Given the description of an element on the screen output the (x, y) to click on. 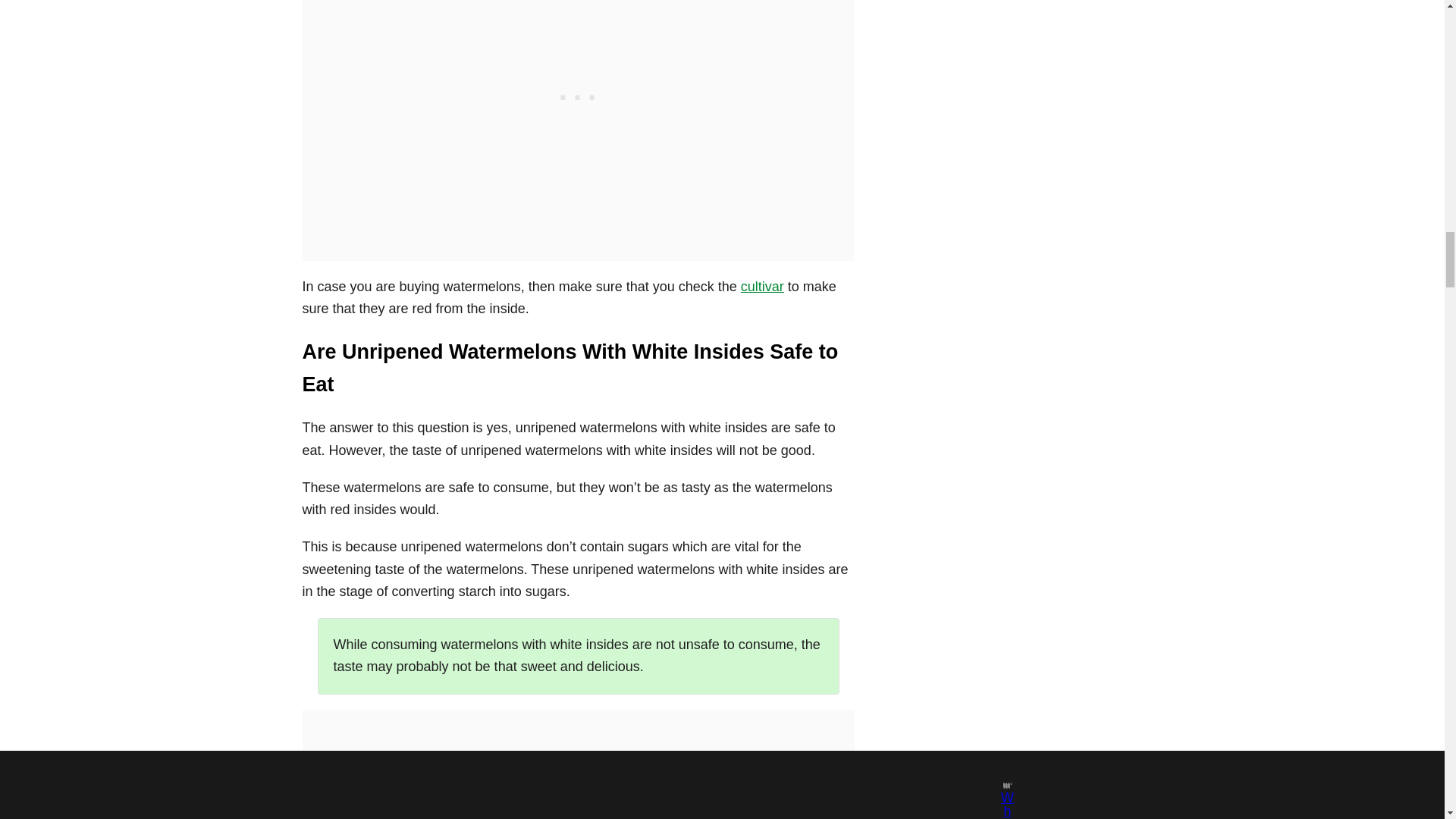
cultivar (762, 286)
